Given the description of an element on the screen output the (x, y) to click on. 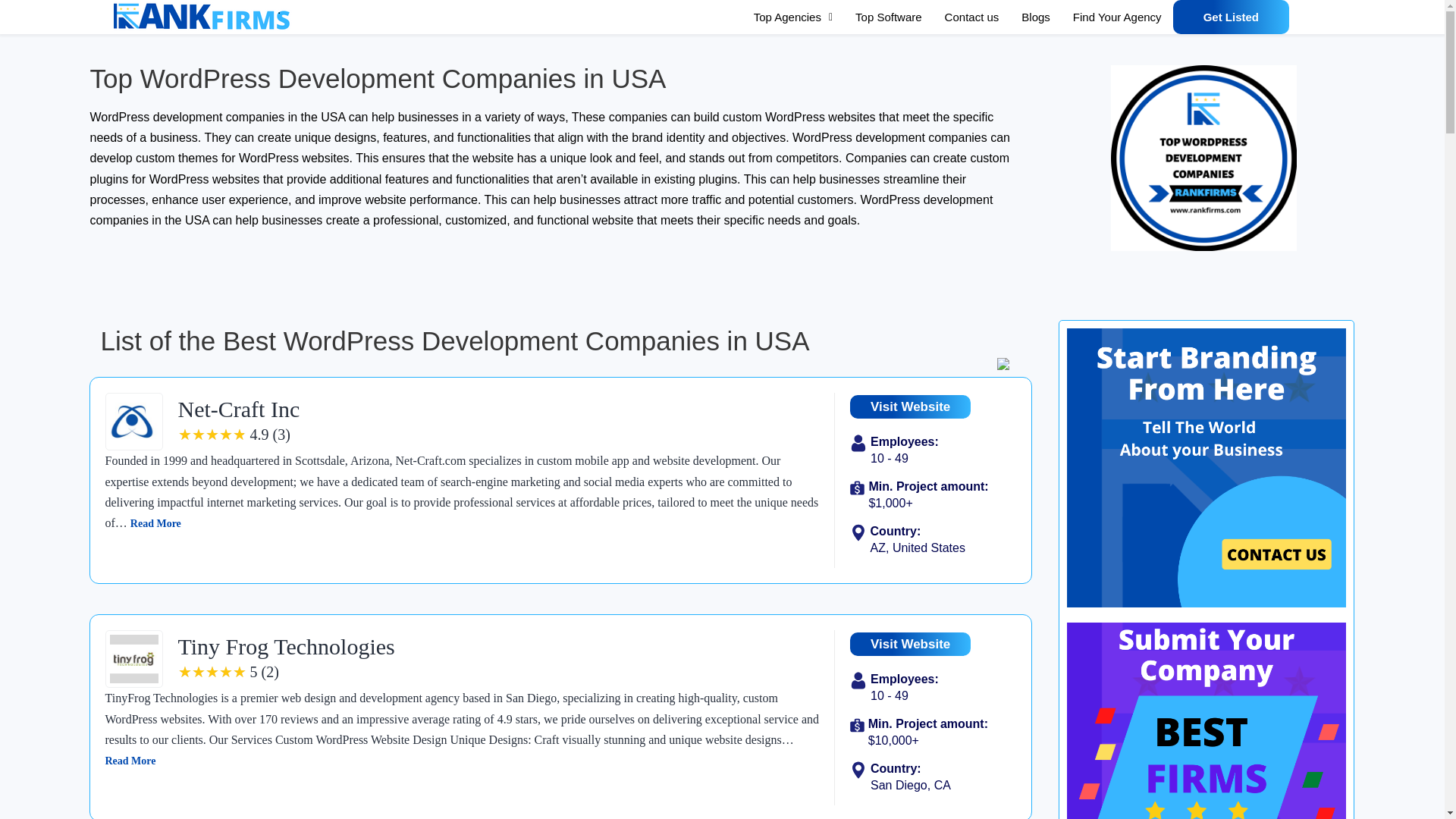
Visit Website (910, 644)
Read More (129, 760)
Blogs (1035, 17)
Net-Craft Inc (238, 408)
Find Your Agency (1117, 17)
Top Software (888, 17)
Get Listed (1230, 17)
Read More (155, 523)
Top Agencies (793, 17)
Contact us (971, 17)
